Given the description of an element on the screen output the (x, y) to click on. 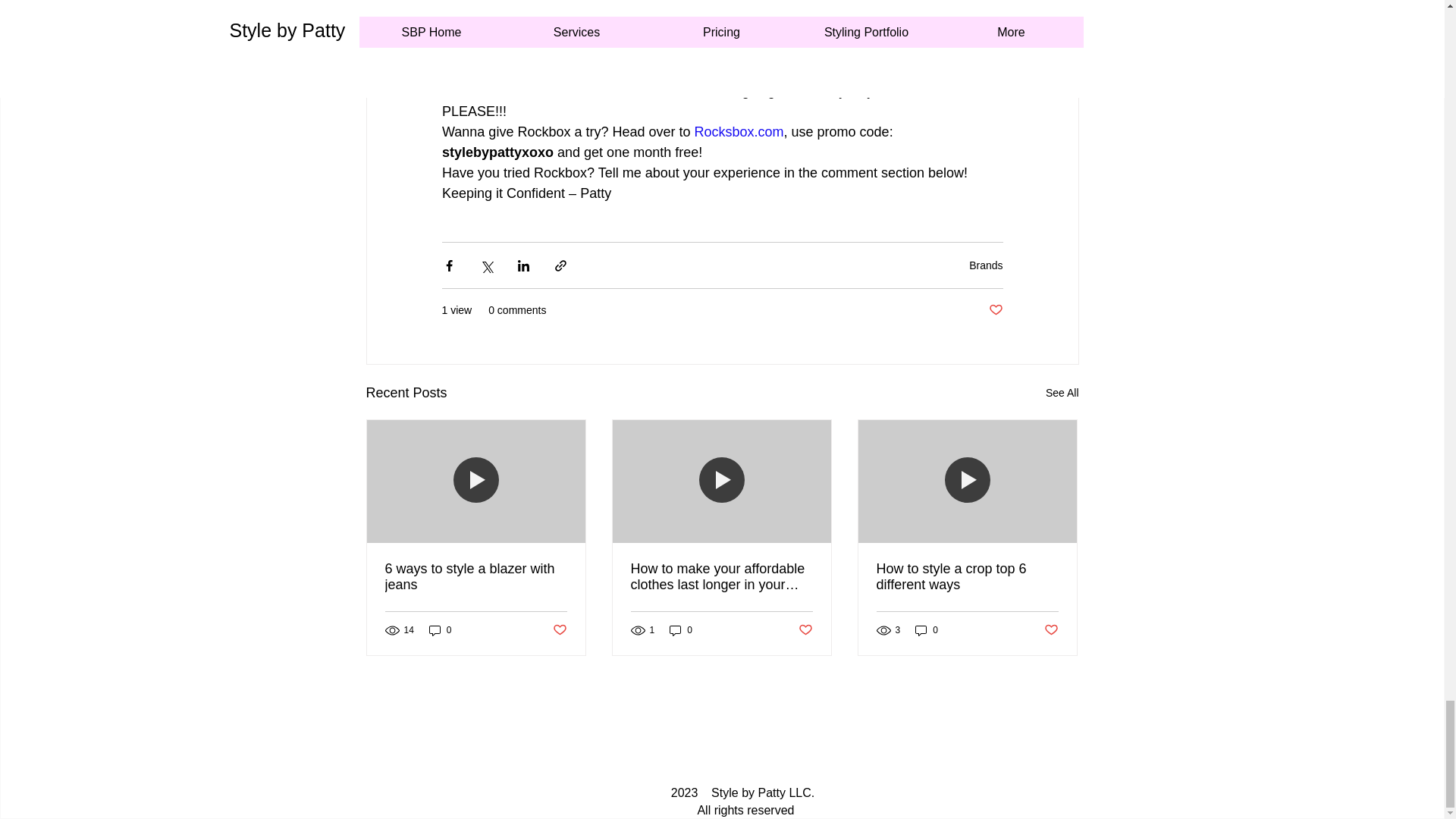
Rocksbox.com (738, 131)
